Given the description of an element on the screen output the (x, y) to click on. 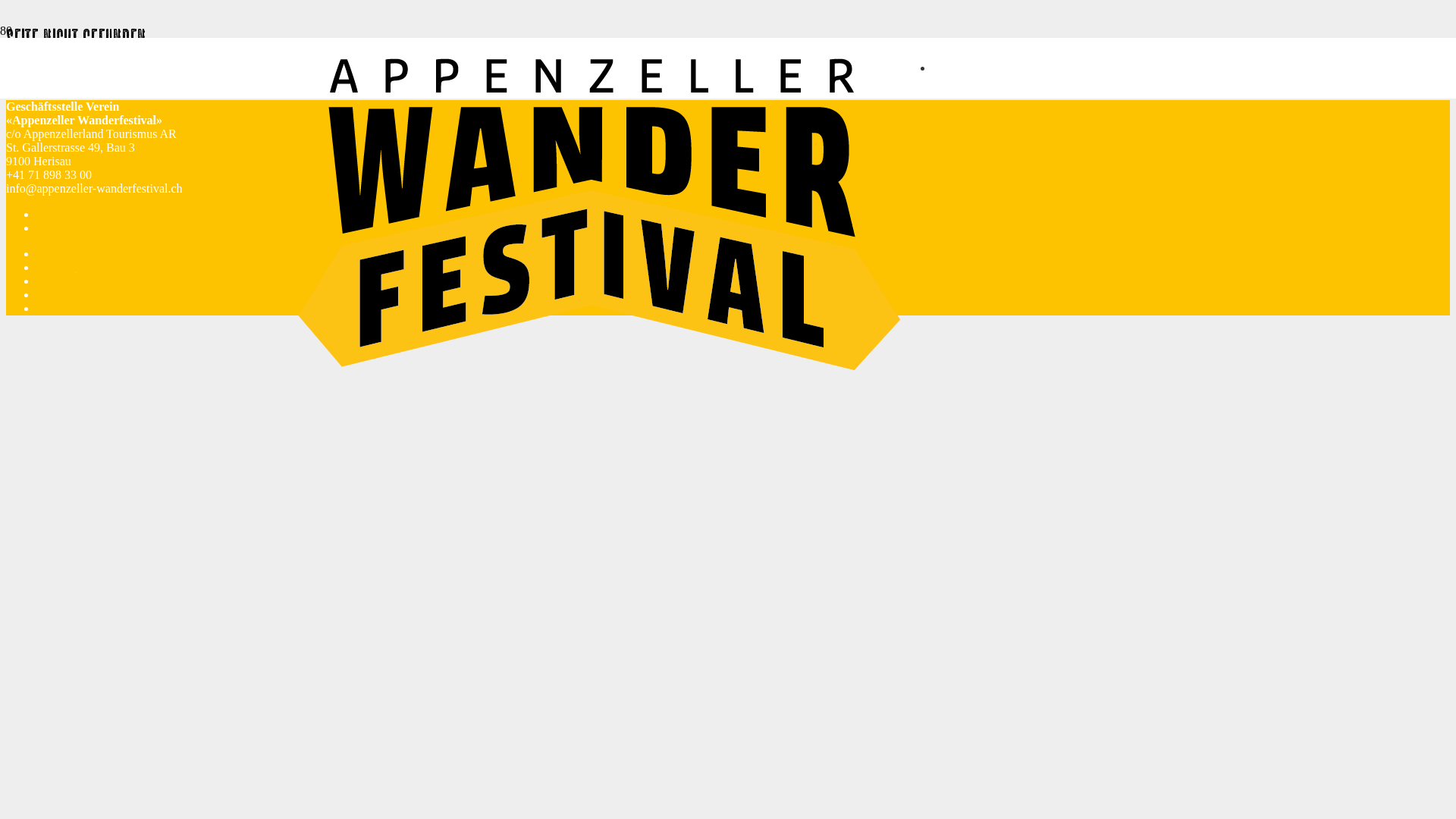
Partner Element type: text (53, 227)
Medien Element type: text (54, 253)
Datenschutz Element type: text (66, 307)
Impressum Element type: text (63, 294)
Kontakt Element type: text (55, 266)
info@appenzeller-wanderfestival.ch Element type: text (94, 188)
